Given the description of an element on the screen output the (x, y) to click on. 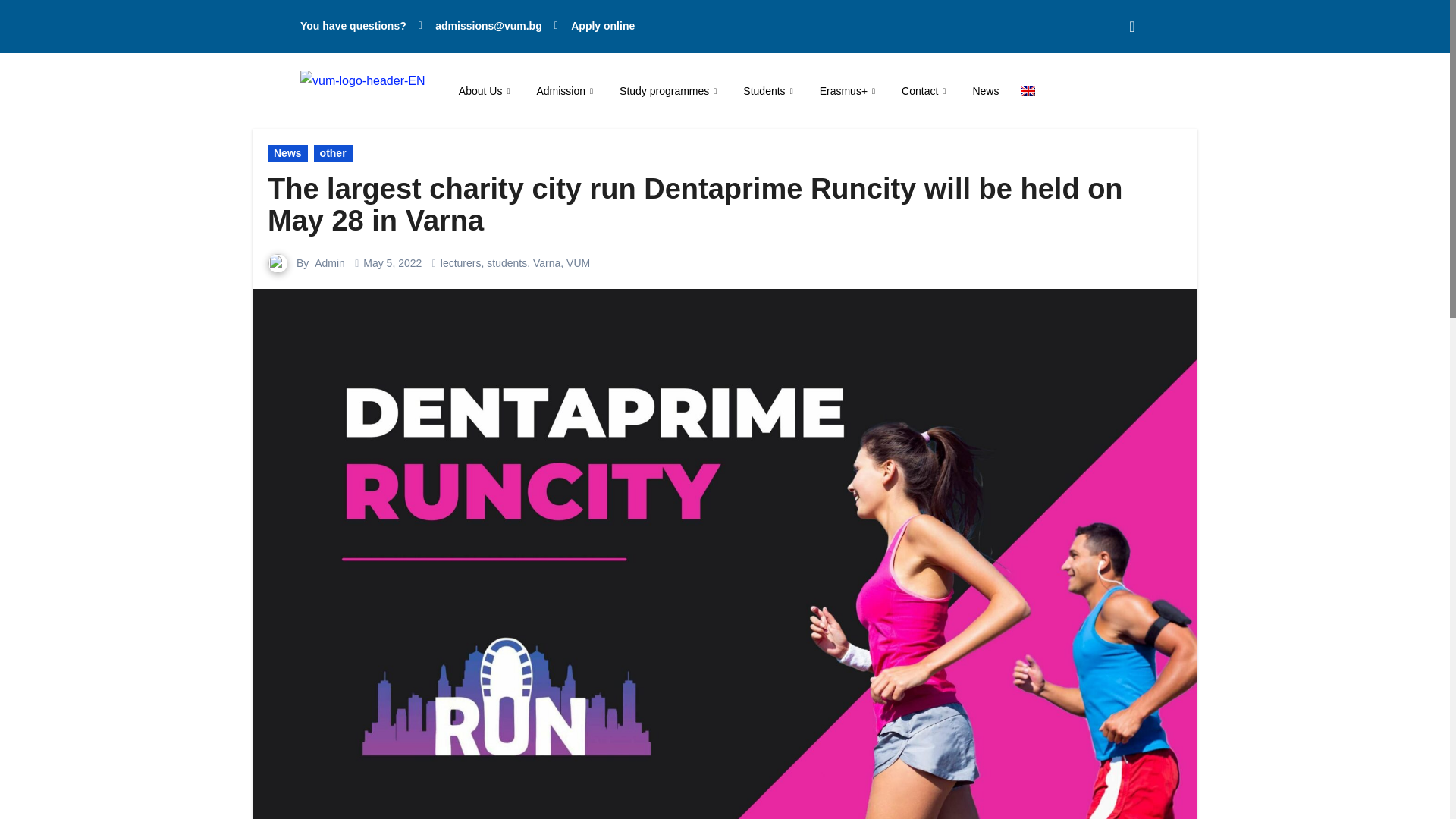
About Us (485, 90)
vum-logo-header-EN (362, 80)
Students (770, 90)
Study programmes (670, 90)
Apply online (594, 26)
Admission (566, 90)
